Given the description of an element on the screen output the (x, y) to click on. 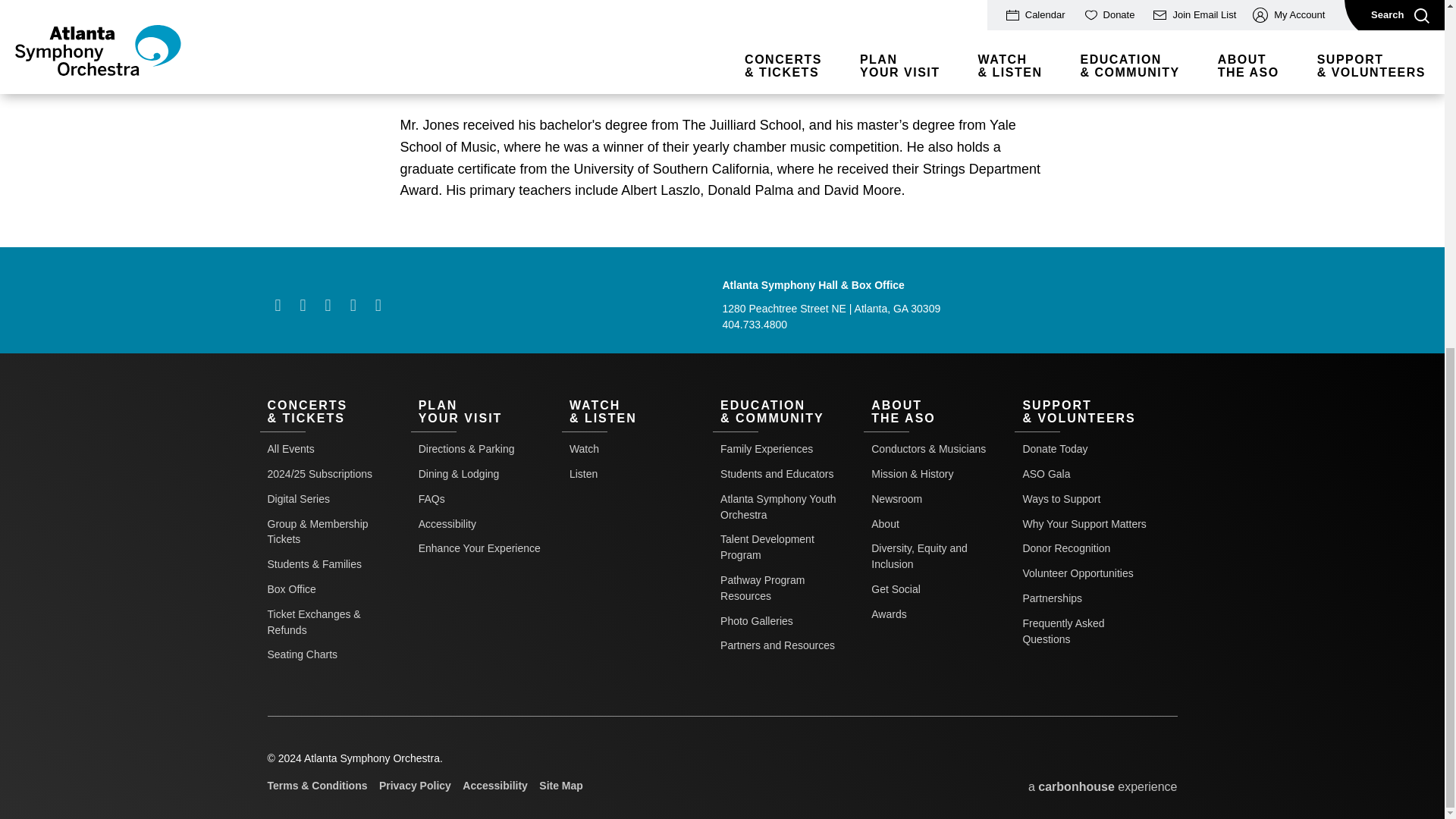
a carbonhouse experience (1102, 787)
